Given the description of an element on the screen output the (x, y) to click on. 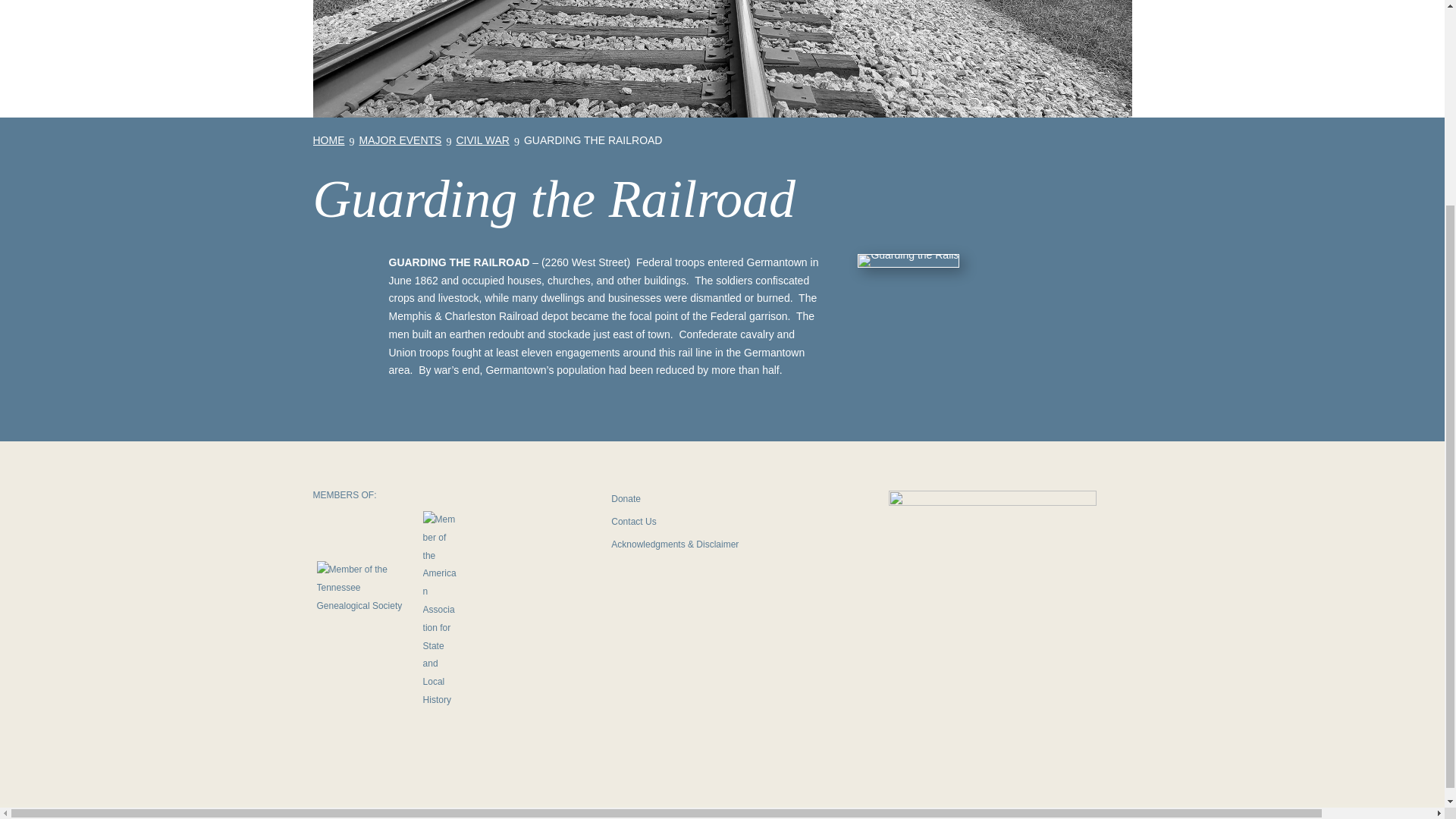
Member of the Tennessee Genealogical Society (366, 610)
Guarding the Rails (908, 260)
Guarding the Rails (908, 254)
Guarding the Rails (722, 58)
